Given the description of an element on the screen output the (x, y) to click on. 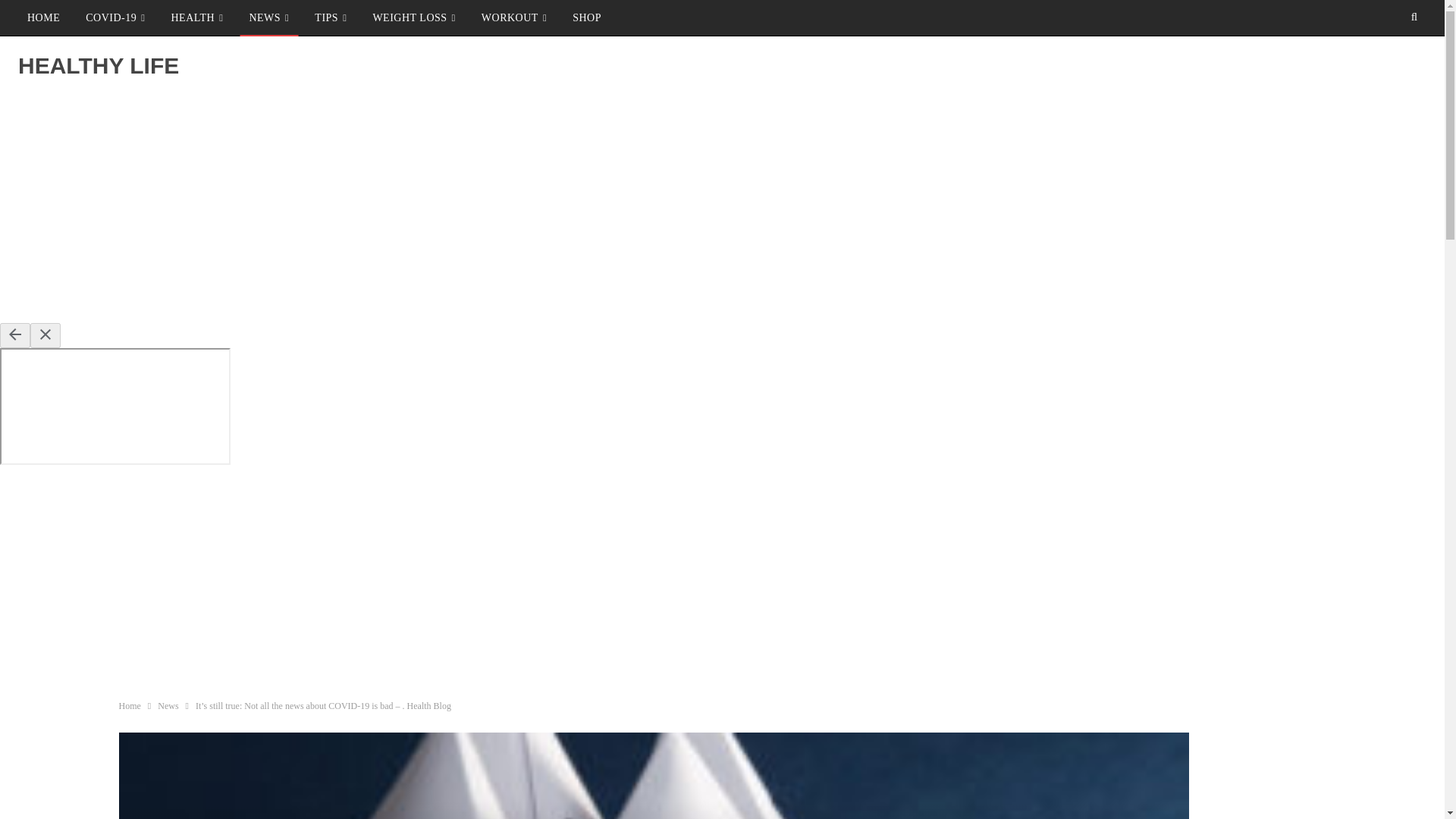
HOME (42, 18)
COVID-19 (115, 18)
NEWS (269, 18)
HEALTH (196, 18)
